Given the description of an element on the screen output the (x, y) to click on. 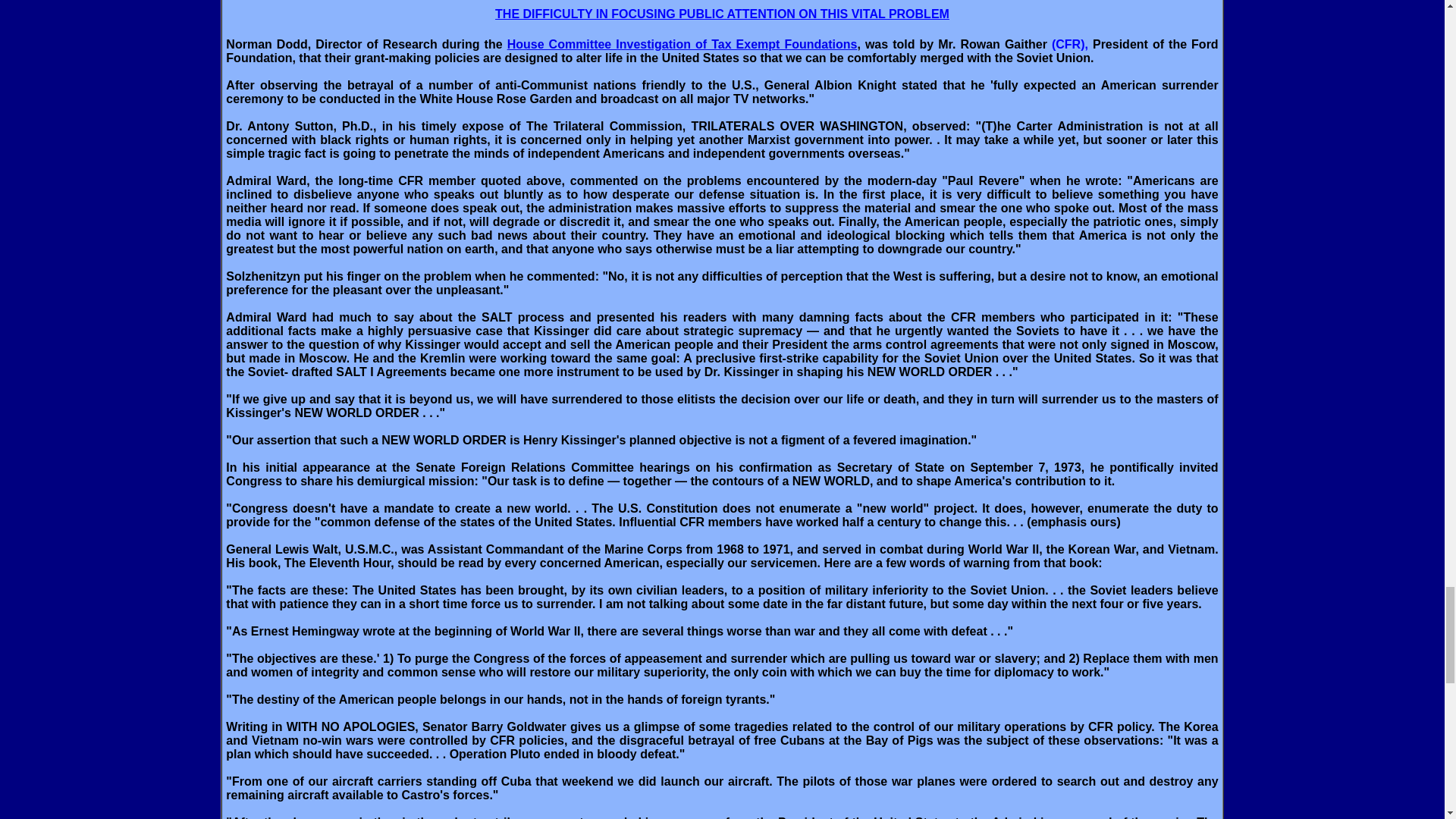
House Committee Investigation of Tax Exempt Foundations (681, 43)
